Given the description of an element on the screen output the (x, y) to click on. 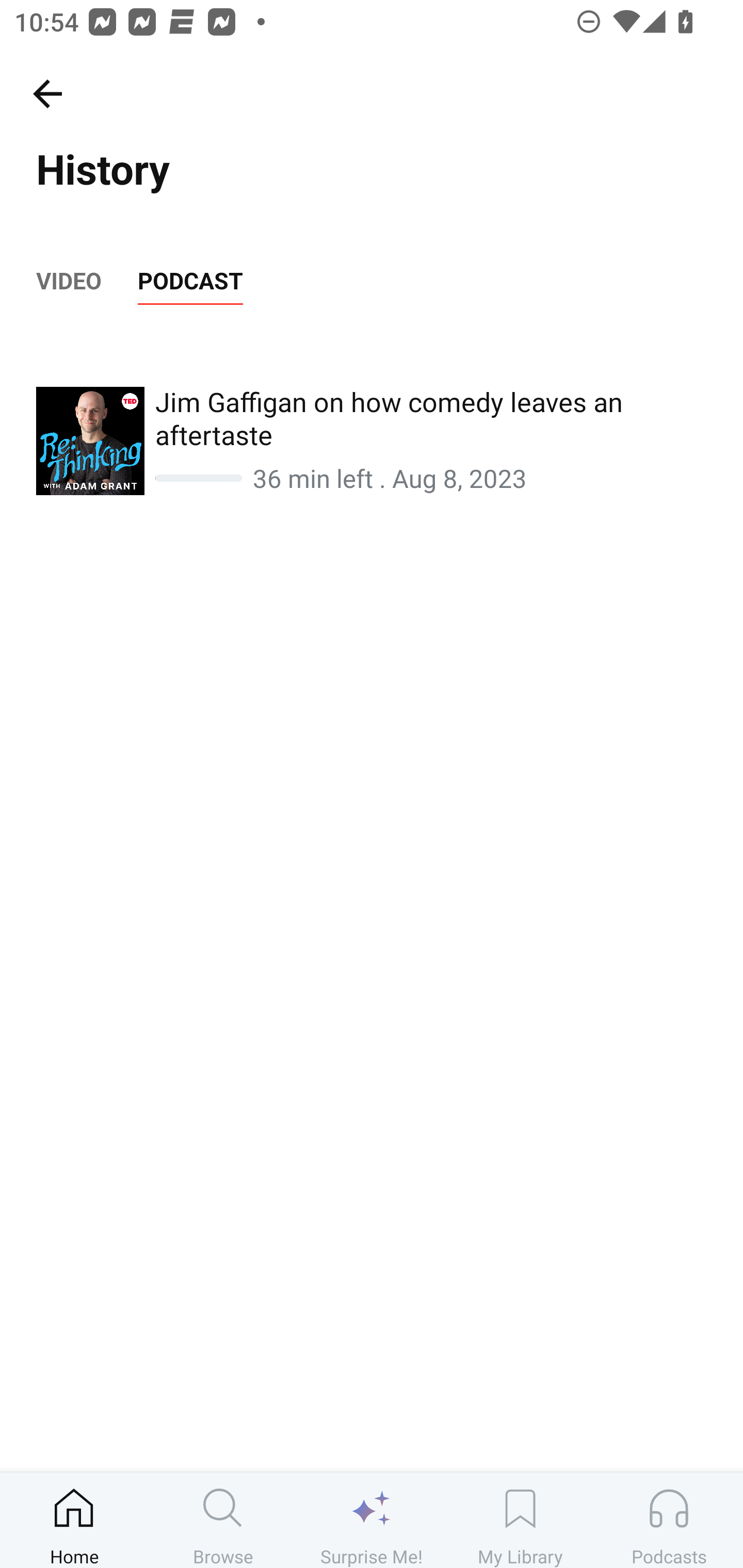
My Profile, back (47, 92)
VIDEO (68, 281)
PODCAST (189, 281)
Home (74, 1520)
Browse (222, 1520)
Surprise Me! (371, 1520)
My Library (519, 1520)
Podcasts (668, 1520)
